Given the description of an element on the screen output the (x, y) to click on. 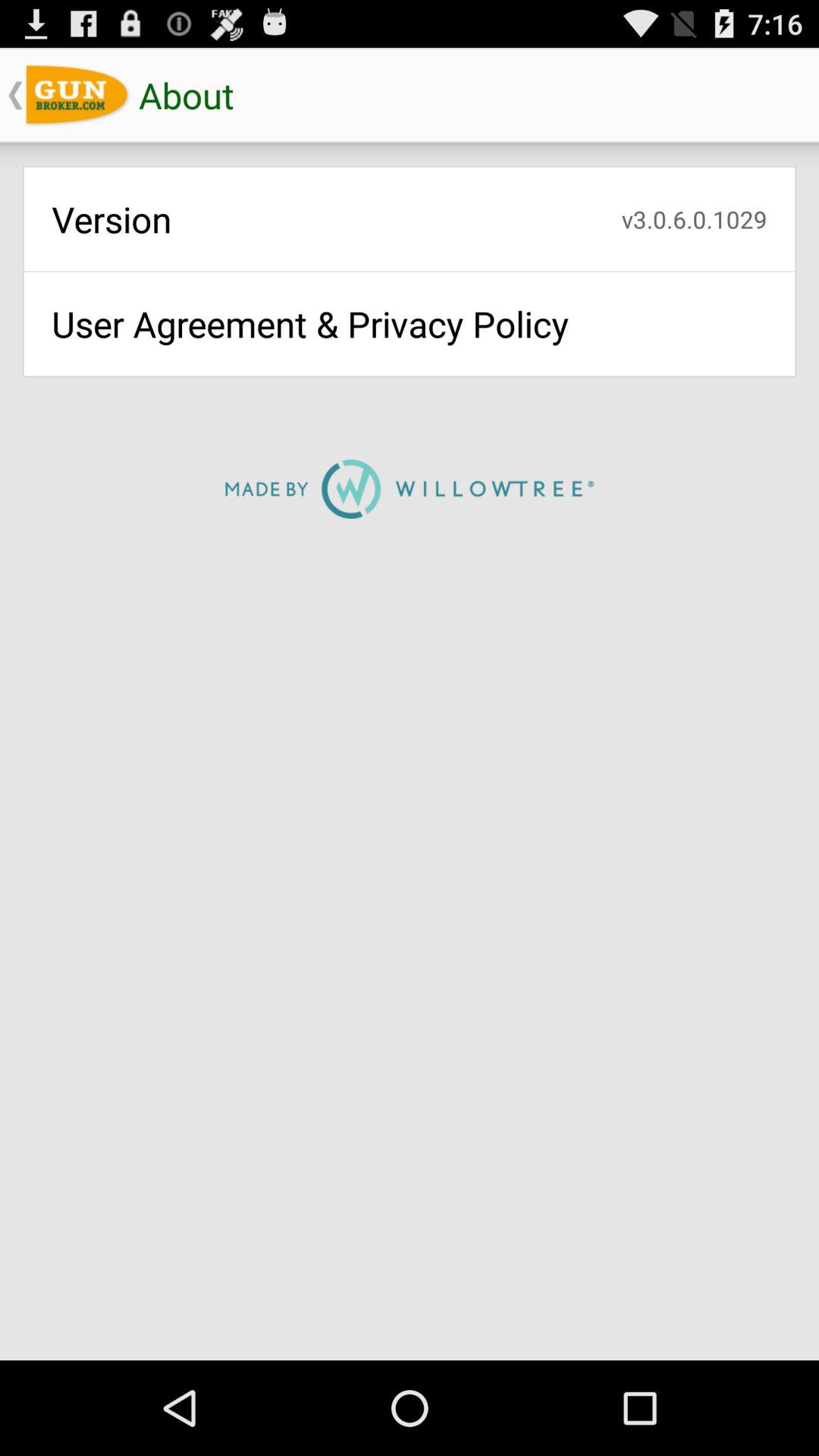
choose the icon at the center (409, 488)
